Given the description of an element on the screen output the (x, y) to click on. 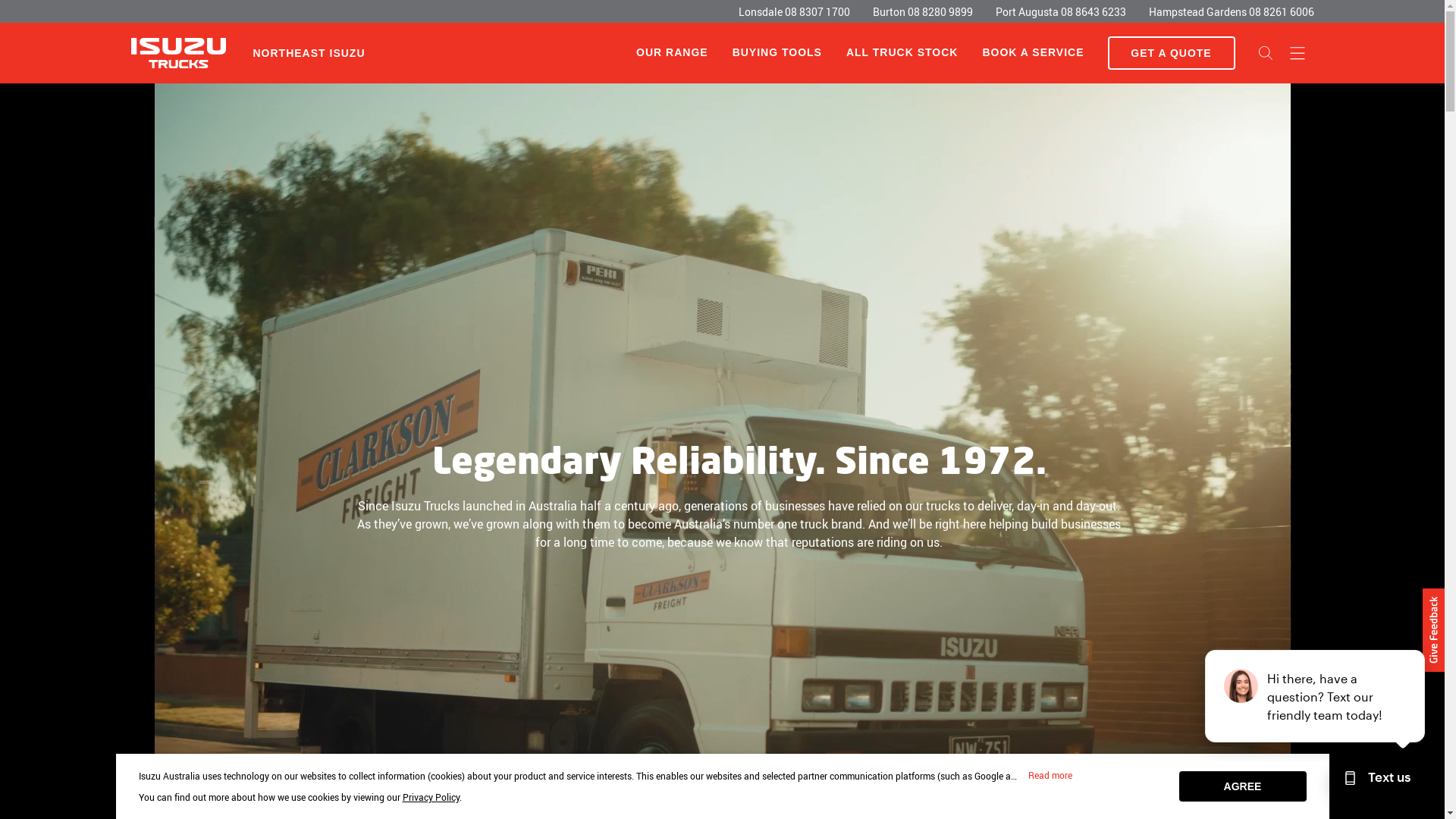
GET A QUOTE Element type: text (1170, 52)
08 8261 6006 Element type: text (1280, 11)
08 8280 9899 Element type: text (939, 11)
Read more Element type: text (1049, 775)
BUYING TOOLS Element type: text (777, 52)
08 8643 6233 Element type: text (1092, 11)
08 8307 1700 Element type: text (816, 11)
Privacy Policy Element type: text (429, 796)
podium webchat widget prompt Element type: hover (1315, 696)
AGREE Element type: text (1241, 786)
BOOK A SERVICE Element type: text (1032, 52)
ALL TRUCK STOCK Element type: text (901, 52)
OUR RANGE Element type: text (672, 52)
